Given the description of an element on the screen output the (x, y) to click on. 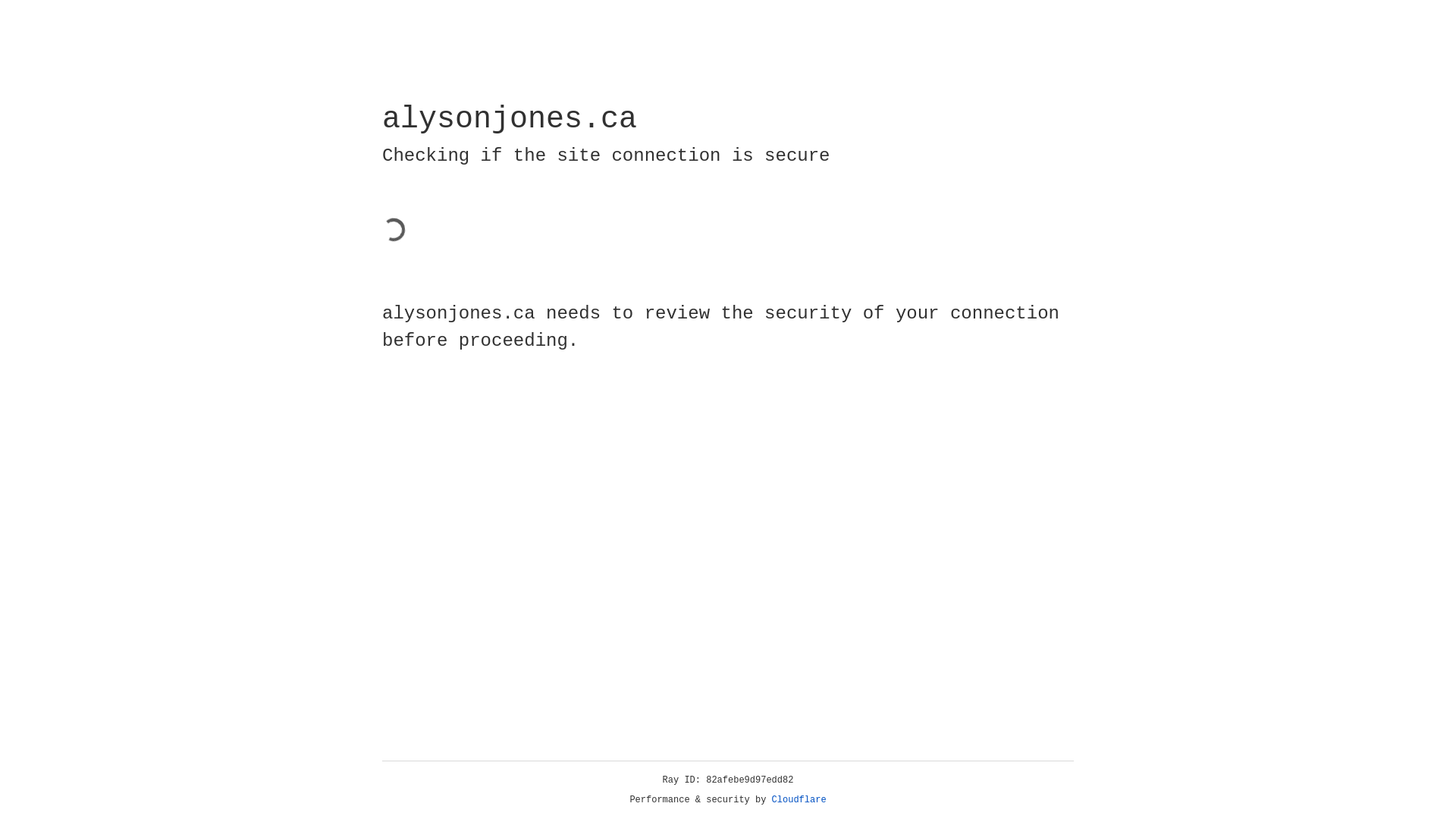
Cloudflare Element type: text (798, 799)
